Given the description of an element on the screen output the (x, y) to click on. 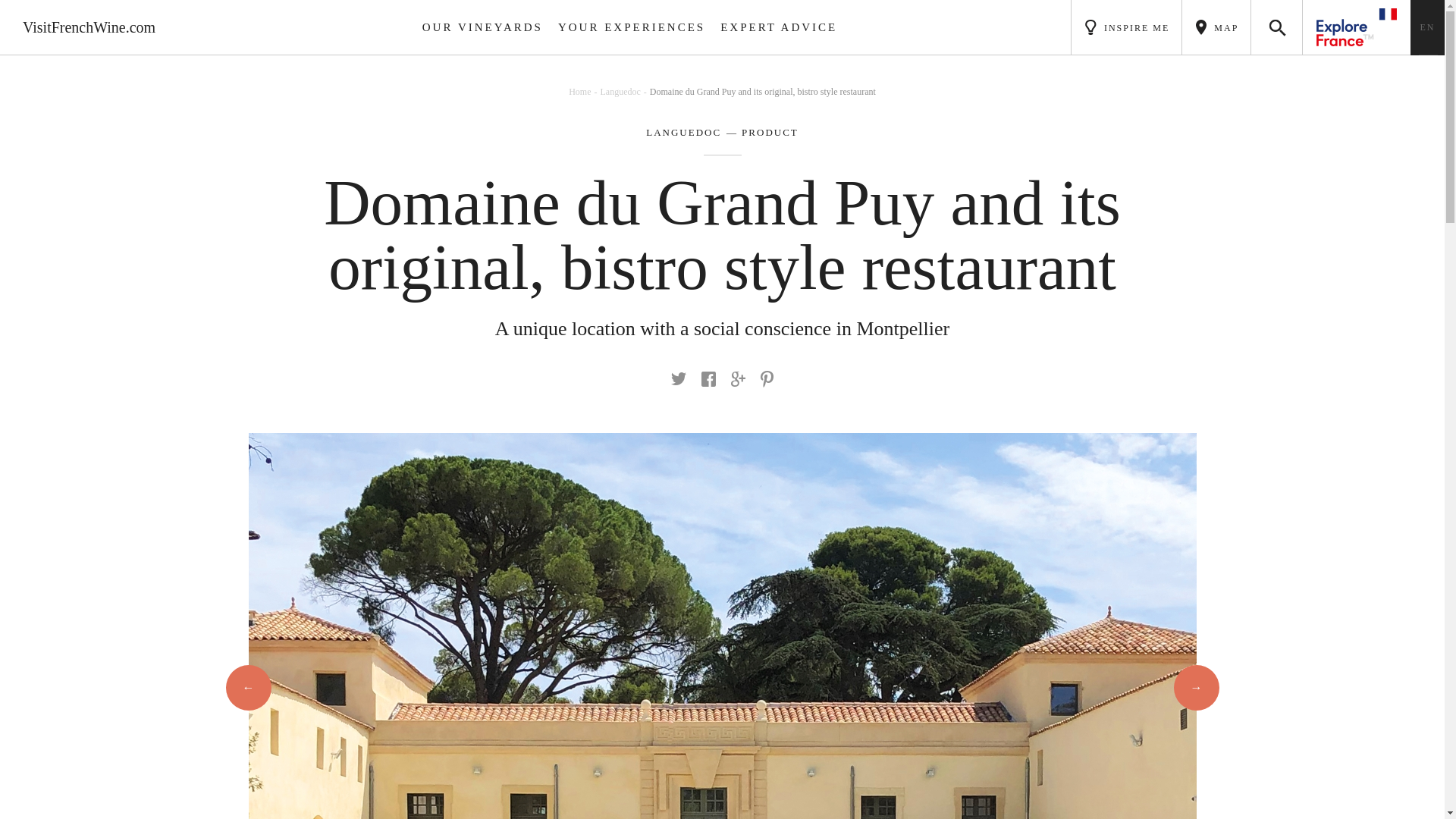
Tweet this (678, 378)
france.fr (1356, 27)
MAP (1216, 27)
Next (1196, 687)
Page vignoble Languedoc (683, 133)
EXPERT ADVICE (778, 27)
Bookmark on Google (737, 378)
VisitFrenchWine.com (89, 27)
OUR VINEYARDS (482, 27)
LANGUEDOC (683, 133)
PRODUCT (759, 133)
Home (584, 91)
S (1277, 27)
Languedoc (624, 91)
